Given the description of an element on the screen output the (x, y) to click on. 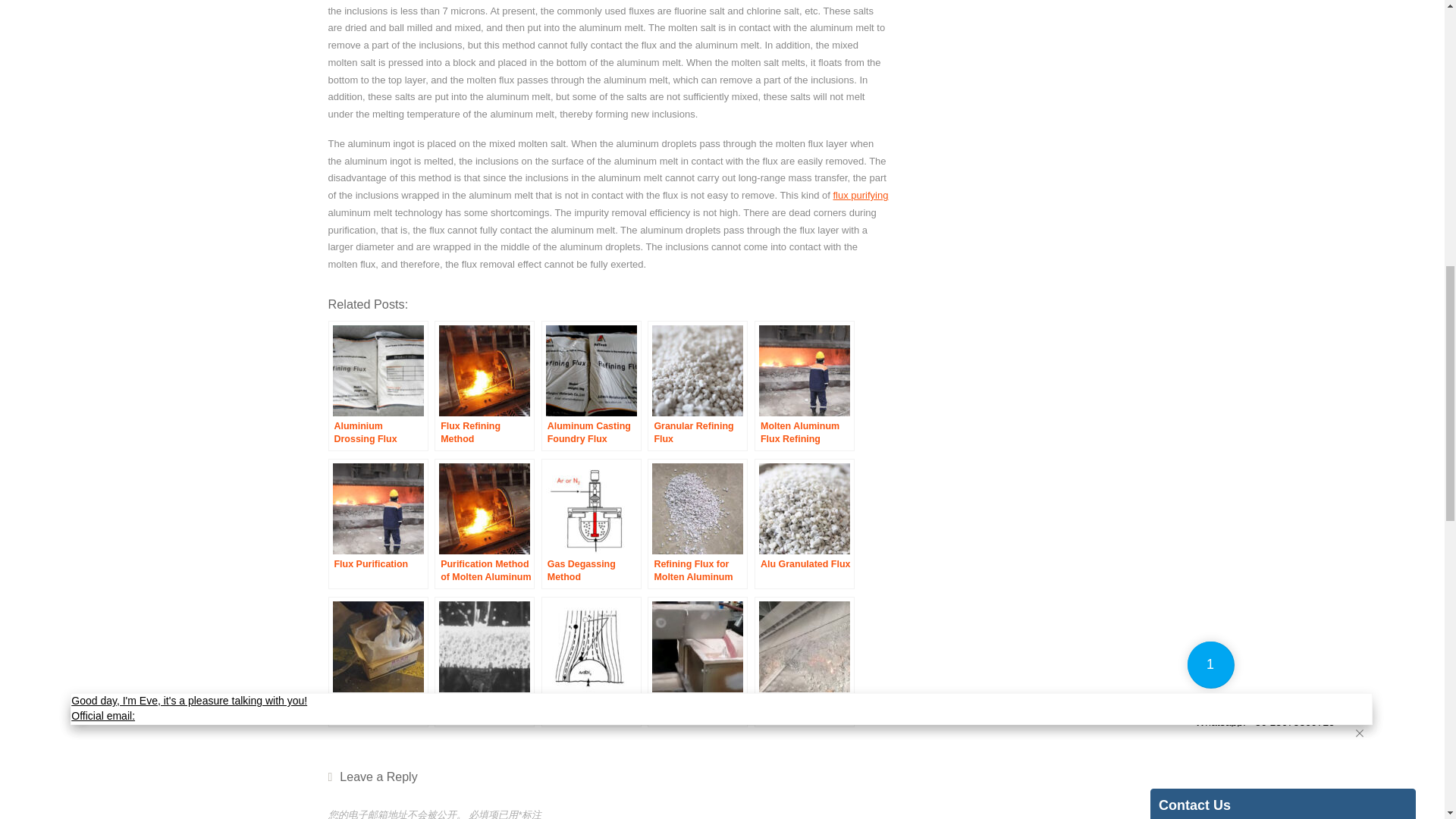
flux purifying (860, 194)
Send (1184, 388)
